Given the description of an element on the screen output the (x, y) to click on. 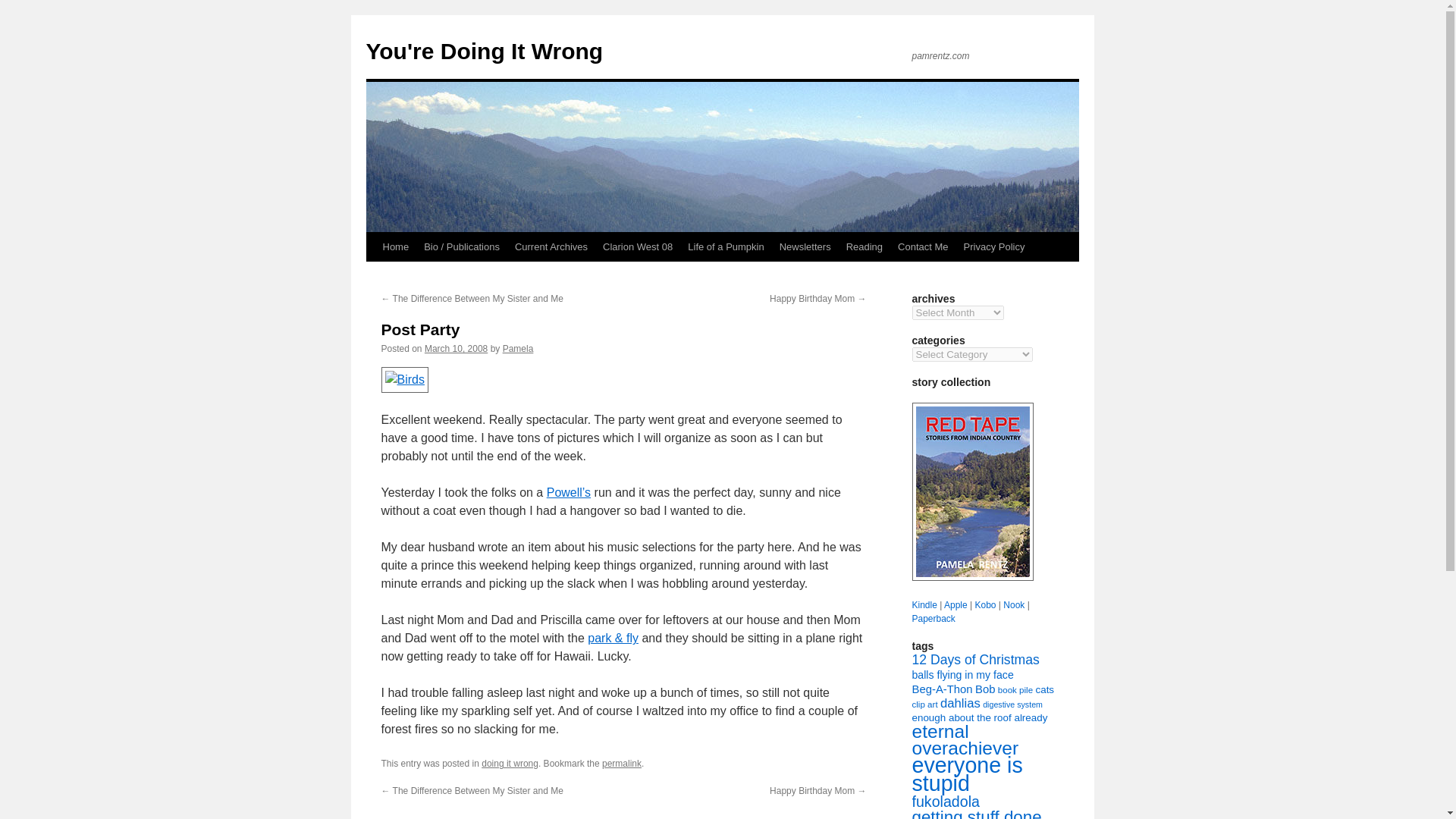
cats (1044, 689)
enough about the roof already (978, 717)
everyone is stupid (966, 773)
permalink (622, 763)
clip art (924, 704)
12 Days of Christmas (975, 659)
Current Archives (550, 246)
Clarion West 08 (637, 246)
Pamela (518, 348)
Paperback (933, 618)
Privacy Policy (994, 246)
balls flying in my face (962, 674)
Apple (955, 604)
Contact Me (922, 246)
Life of a Pumpkin (725, 246)
